Given the description of an element on the screen output the (x, y) to click on. 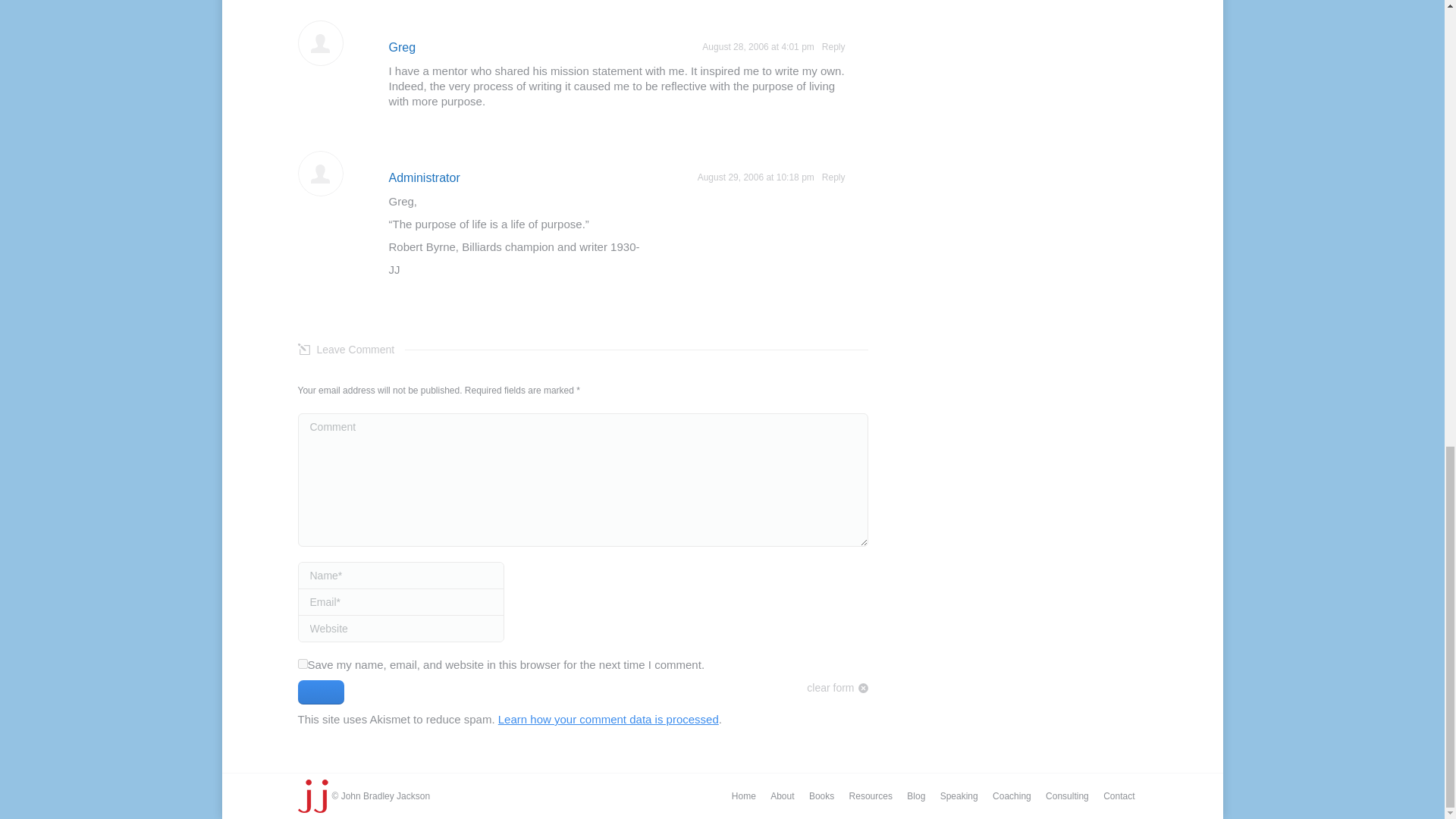
Reply (833, 177)
Reply (833, 46)
yes (302, 664)
